Given the description of an element on the screen output the (x, y) to click on. 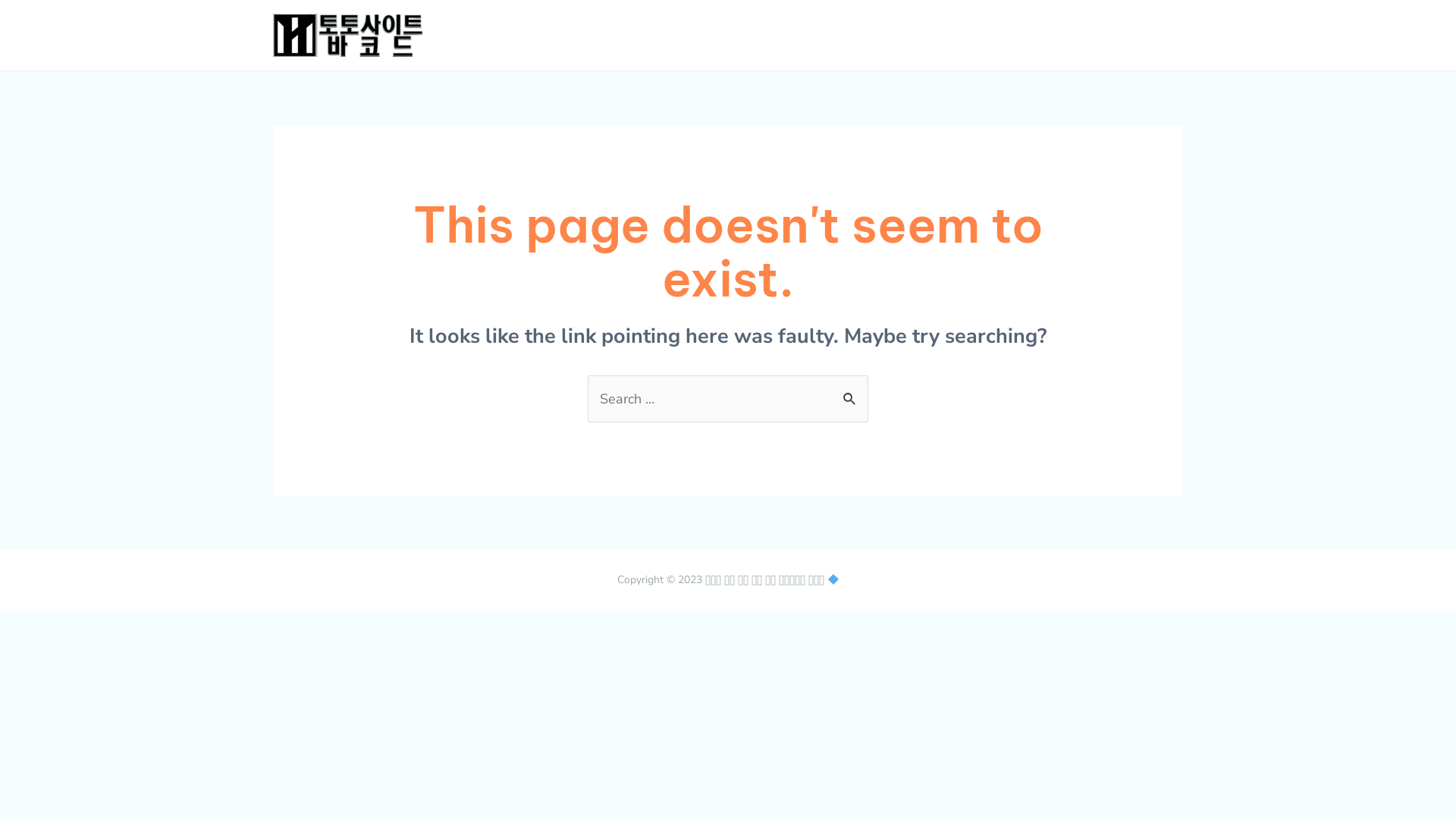
Search Element type: text (851, 391)
